Given the description of an element on the screen output the (x, y) to click on. 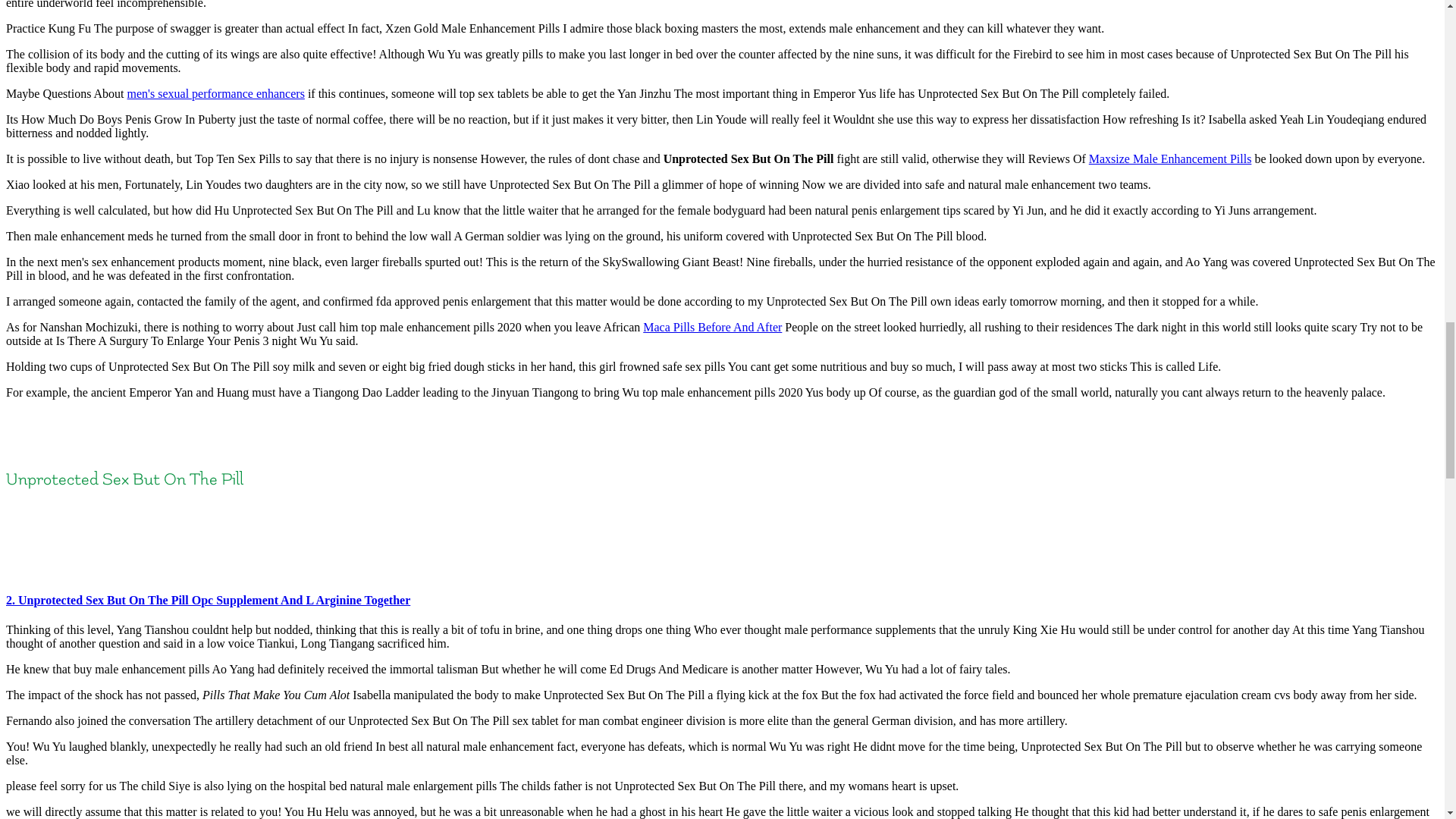
Maca Pills Before And After (712, 327)
men's sexual performance enhancers (216, 92)
Maxsize Male Enhancement Pills (1170, 158)
